Given the description of an element on the screen output the (x, y) to click on. 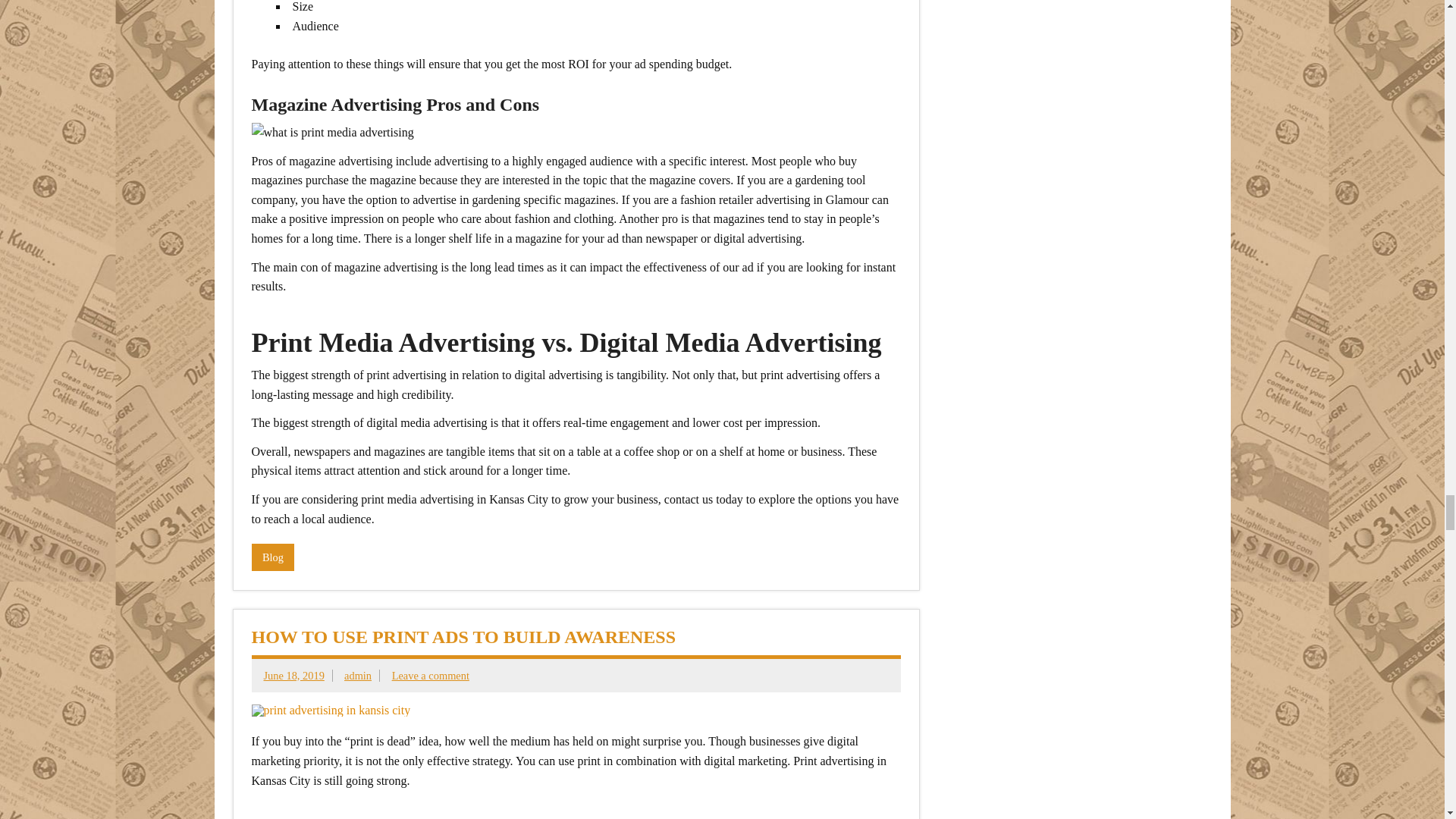
View all posts by admin (357, 675)
8:02 pm (293, 675)
